Given the description of an element on the screen output the (x, y) to click on. 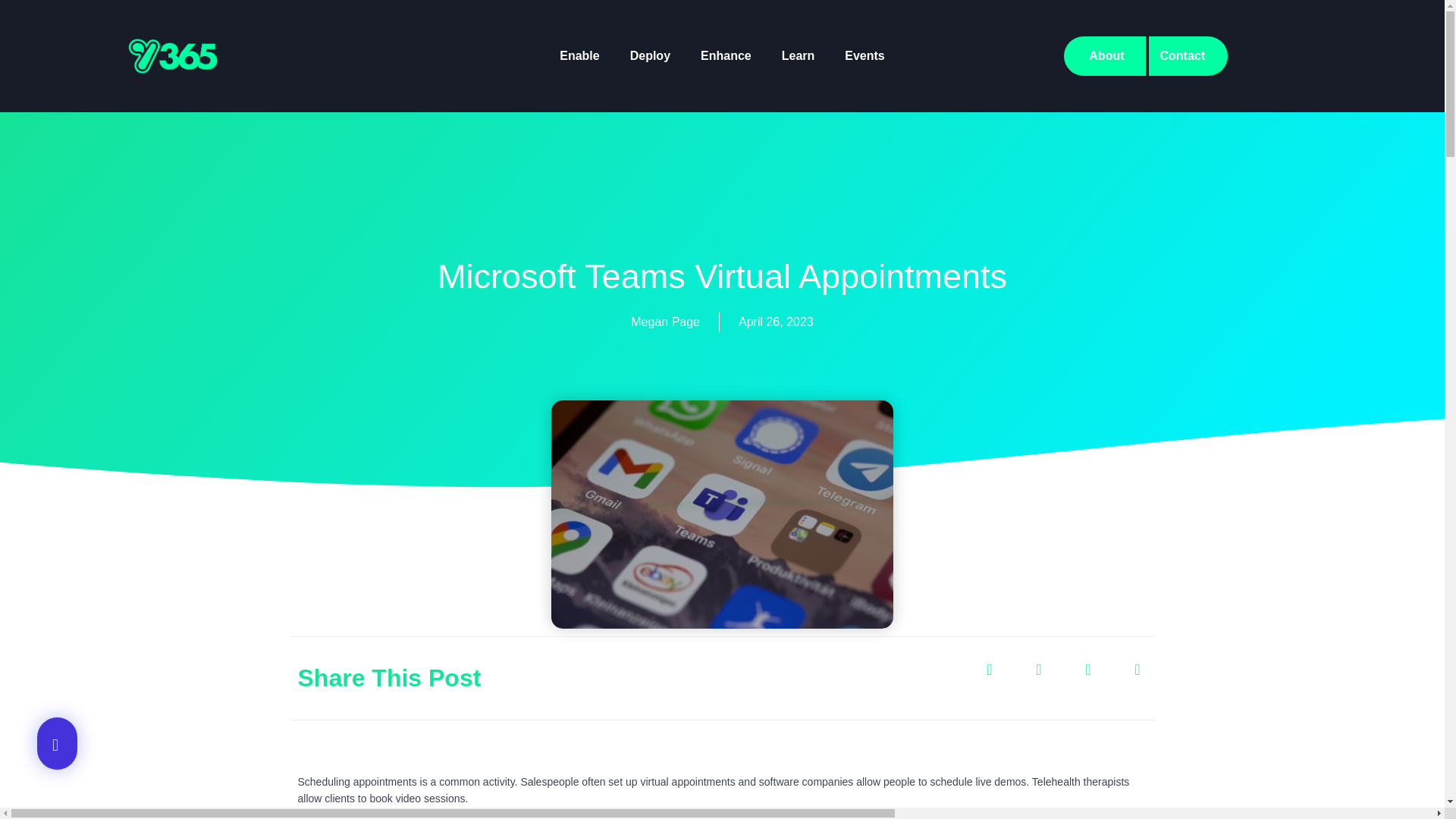
Learn (798, 55)
Enhance (726, 55)
Events (864, 55)
April 26, 2023 (775, 322)
About (1104, 56)
Enable (579, 55)
Deploy (649, 55)
Megan Page (665, 322)
Contact (1187, 56)
